Given the description of an element on the screen output the (x, y) to click on. 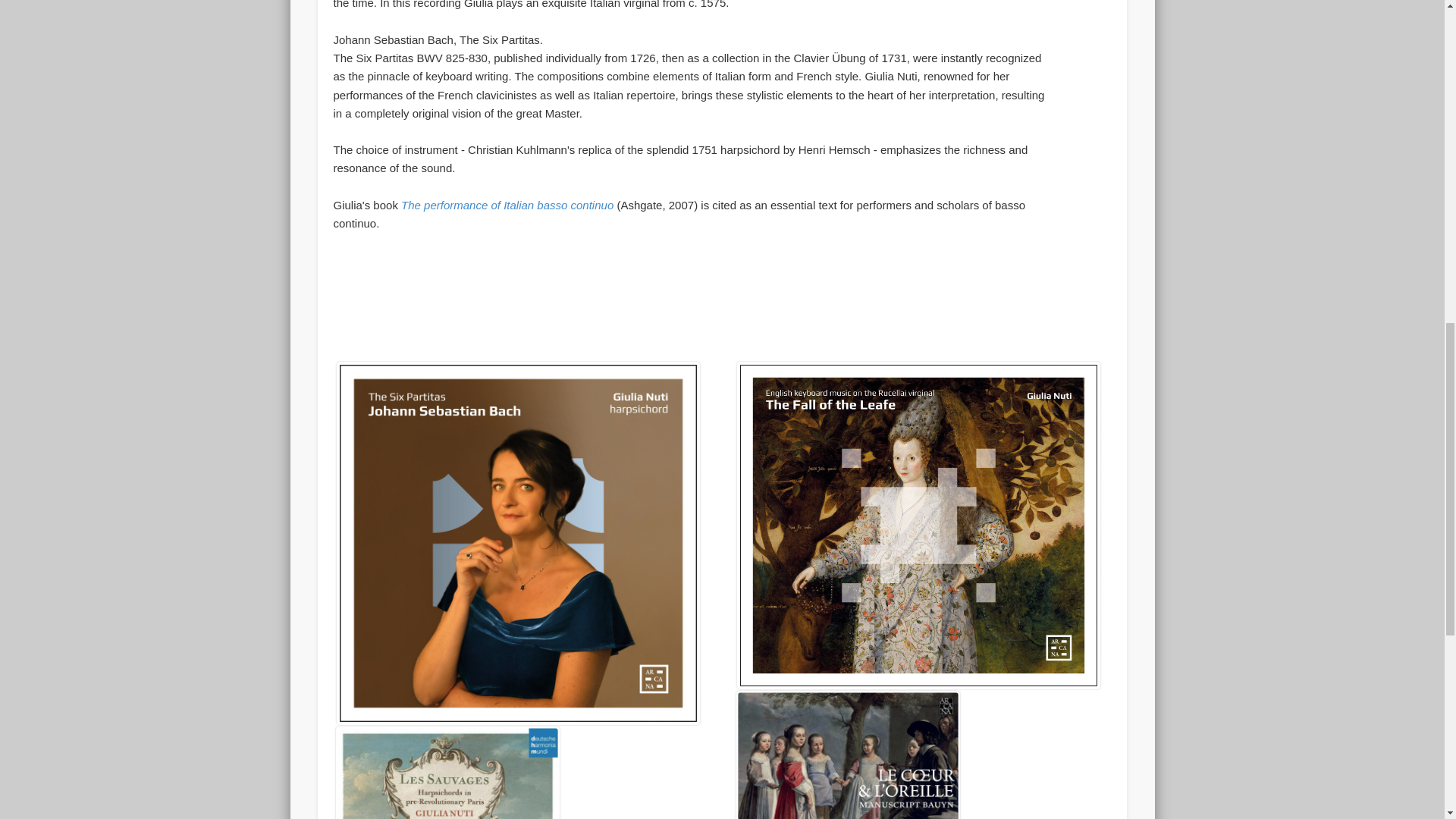
The performance of Italian basso continuo (508, 205)
Publications (508, 205)
